Given the description of an element on the screen output the (x, y) to click on. 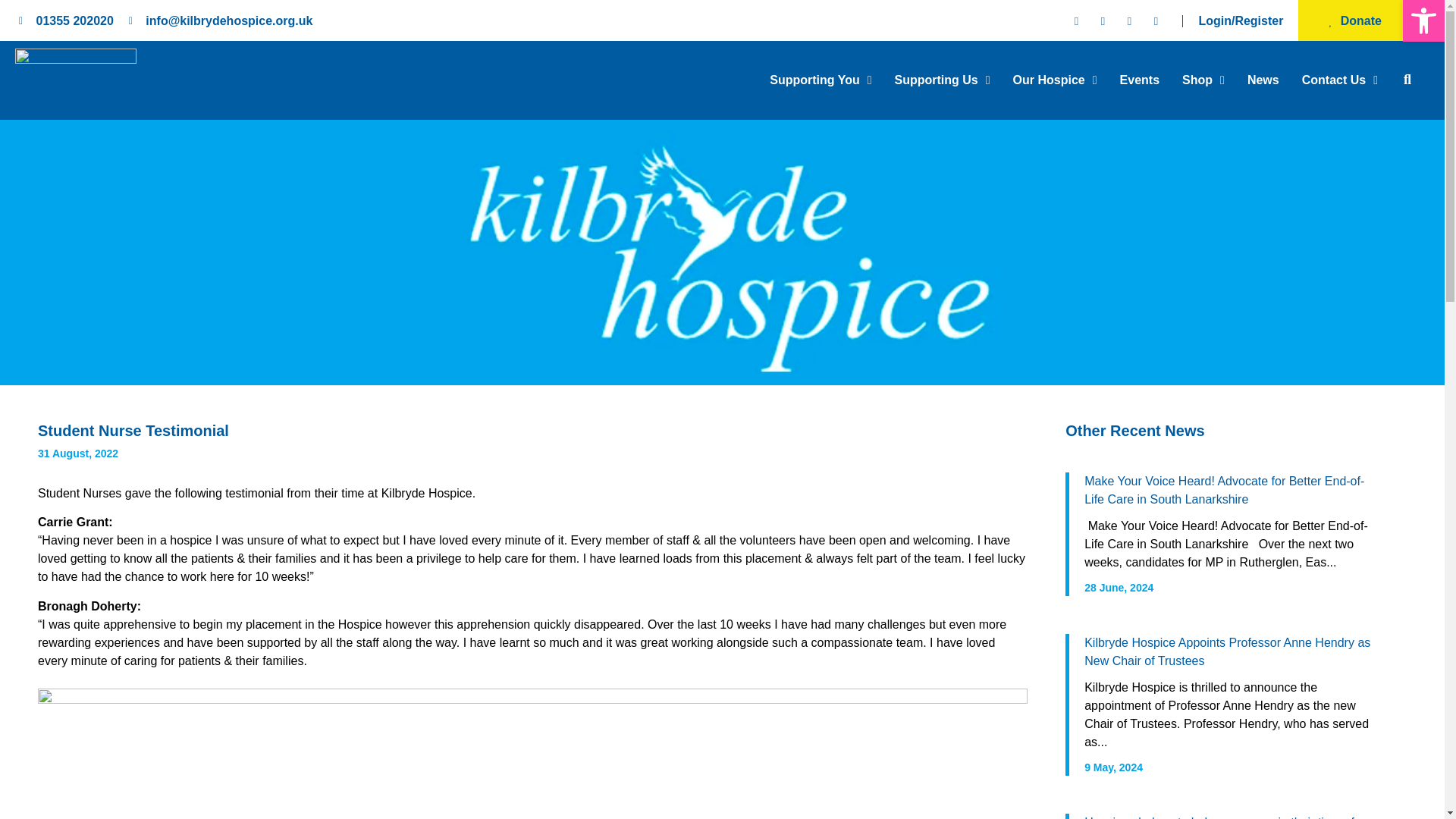
Accessibility Tools (1423, 20)
Supporting Us (942, 87)
01355 202020 (65, 21)
Supporting You (820, 87)
Donate (1354, 20)
